Given the description of an element on the screen output the (x, y) to click on. 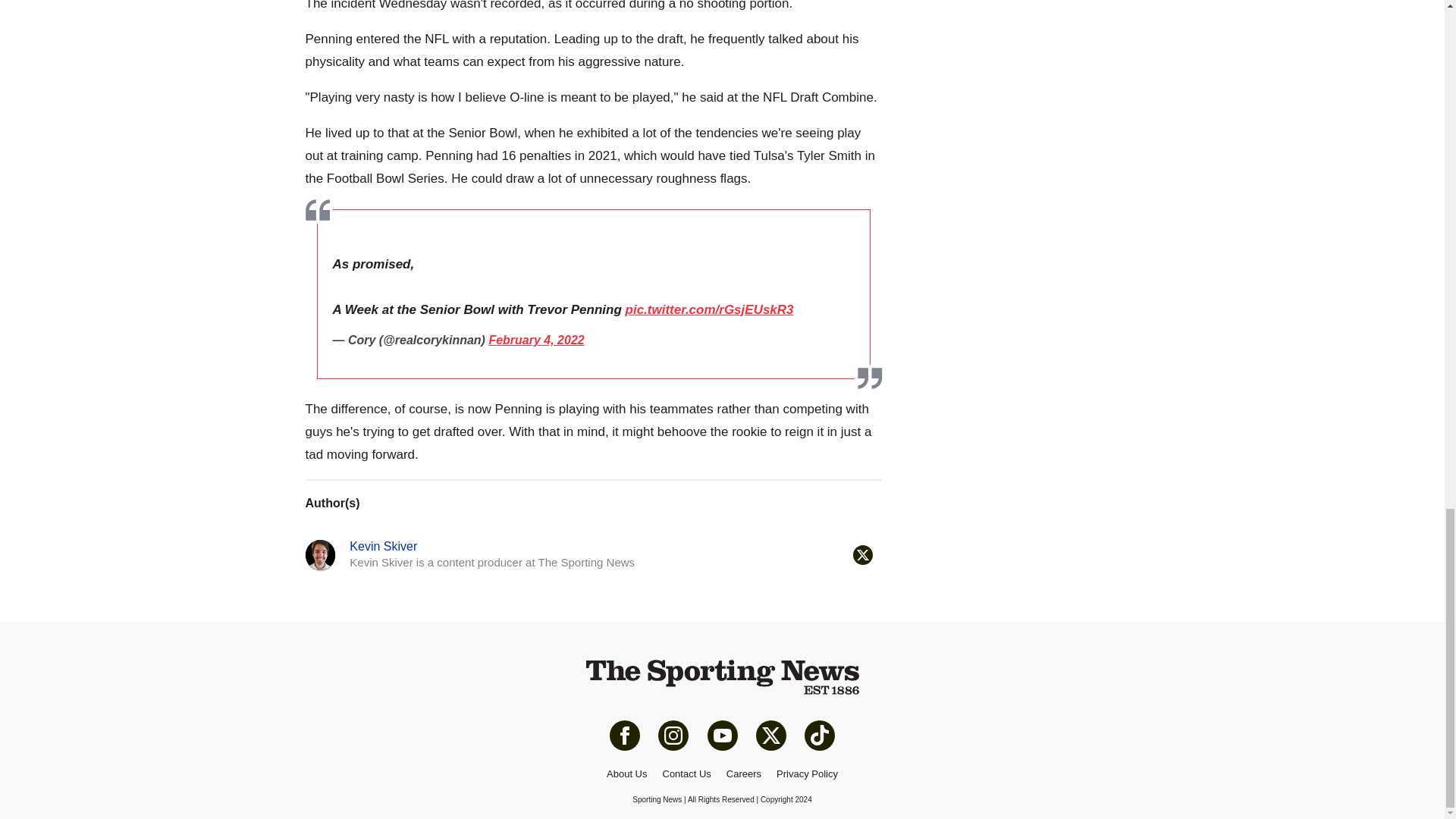
Open the author page on Twitter (861, 555)
